Given the description of an element on the screen output the (x, y) to click on. 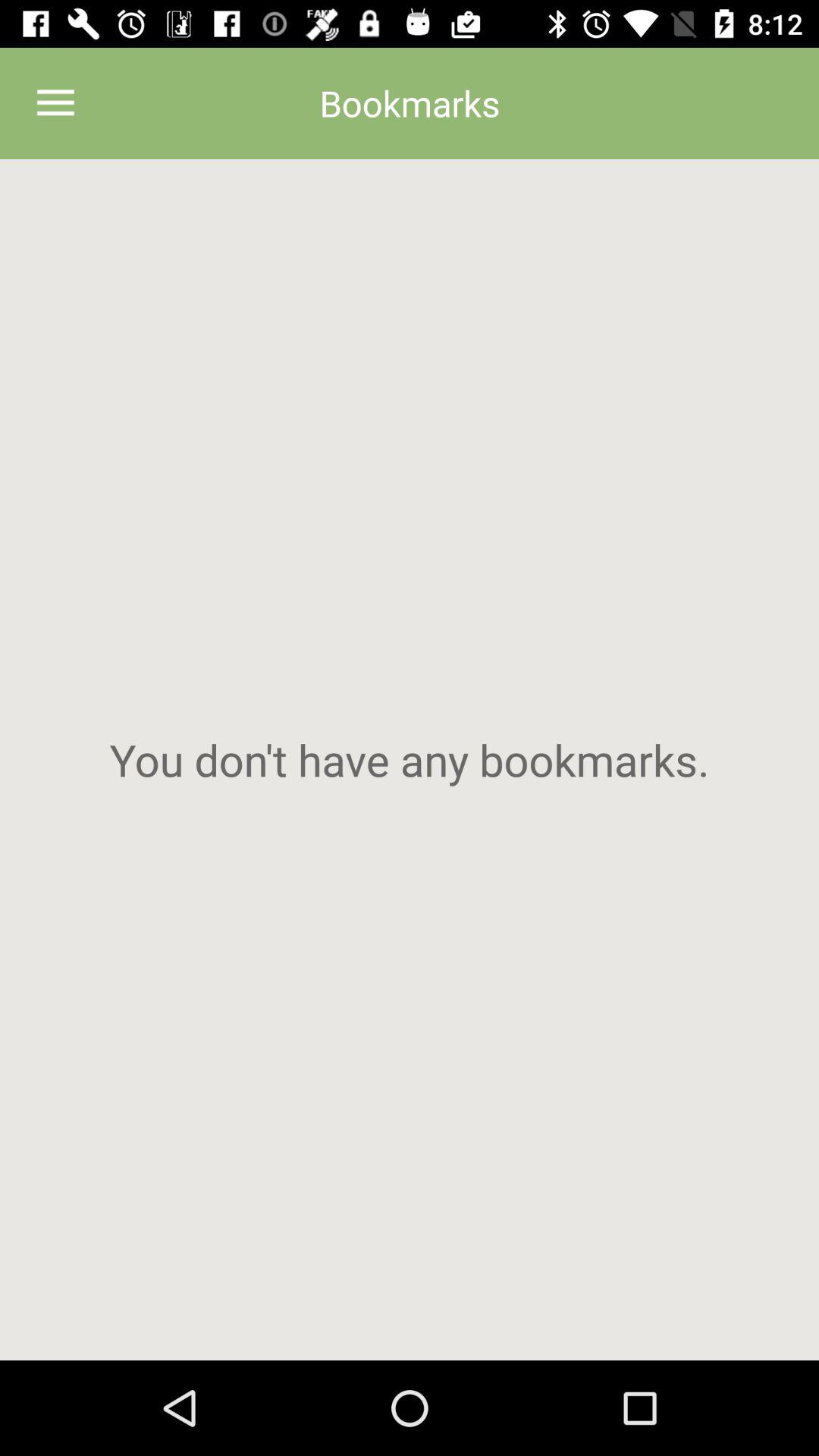
click the item at the top left corner (55, 103)
